Given the description of an element on the screen output the (x, y) to click on. 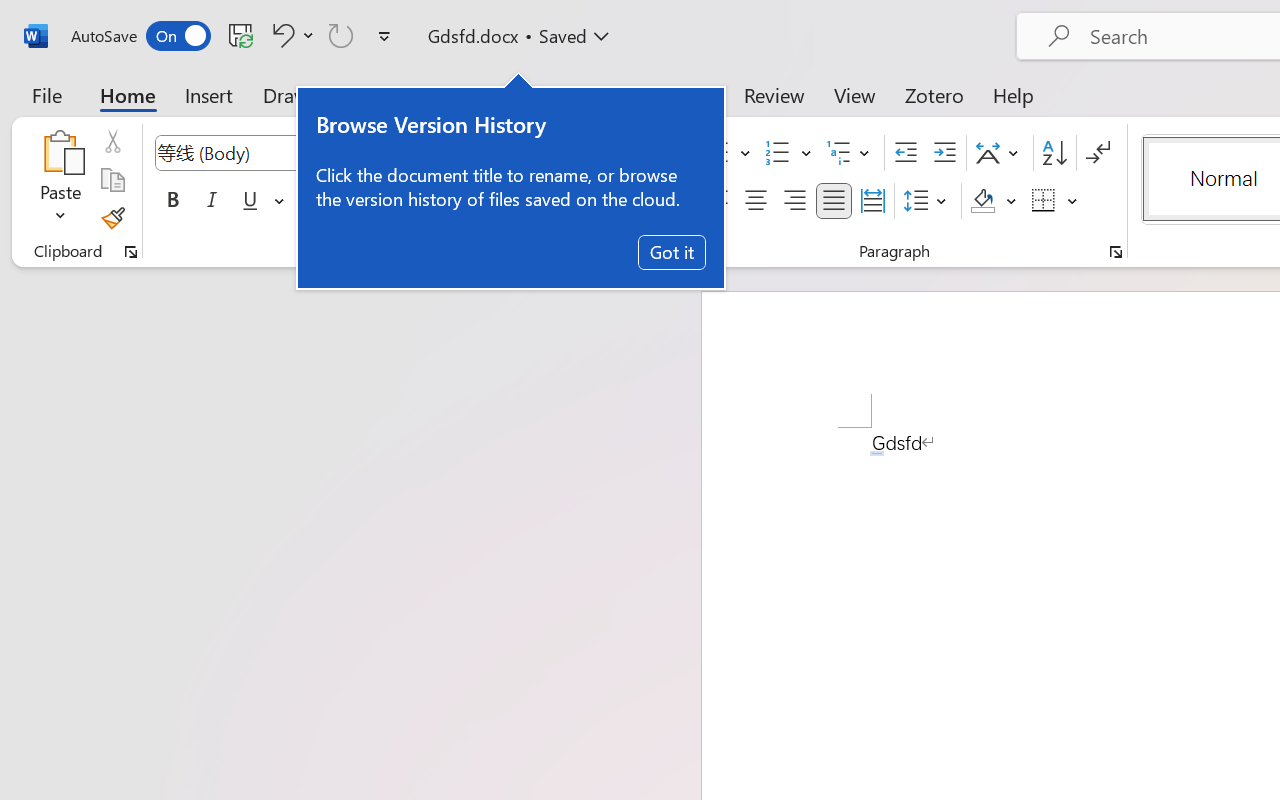
Font... (675, 252)
Text Highlight Color (506, 201)
Increase Indent (944, 153)
